Given the description of an element on the screen output the (x, y) to click on. 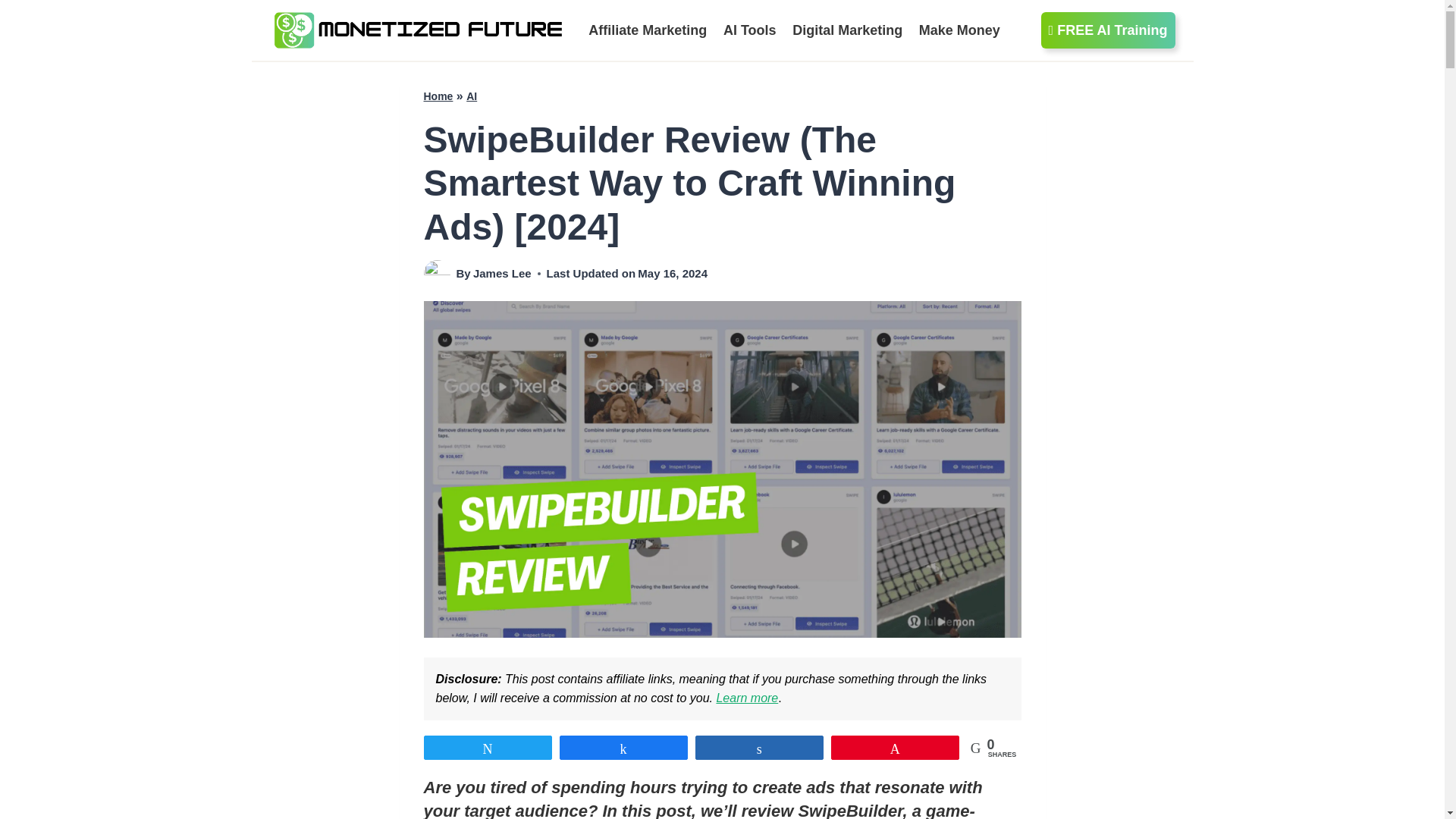
Affiliate Marketing (648, 30)
Home (437, 96)
James Lee (502, 273)
AI Tools (749, 30)
Learn more (746, 697)
Digital Marketing (847, 30)
Make Money (960, 30)
